Given the description of an element on the screen output the (x, y) to click on. 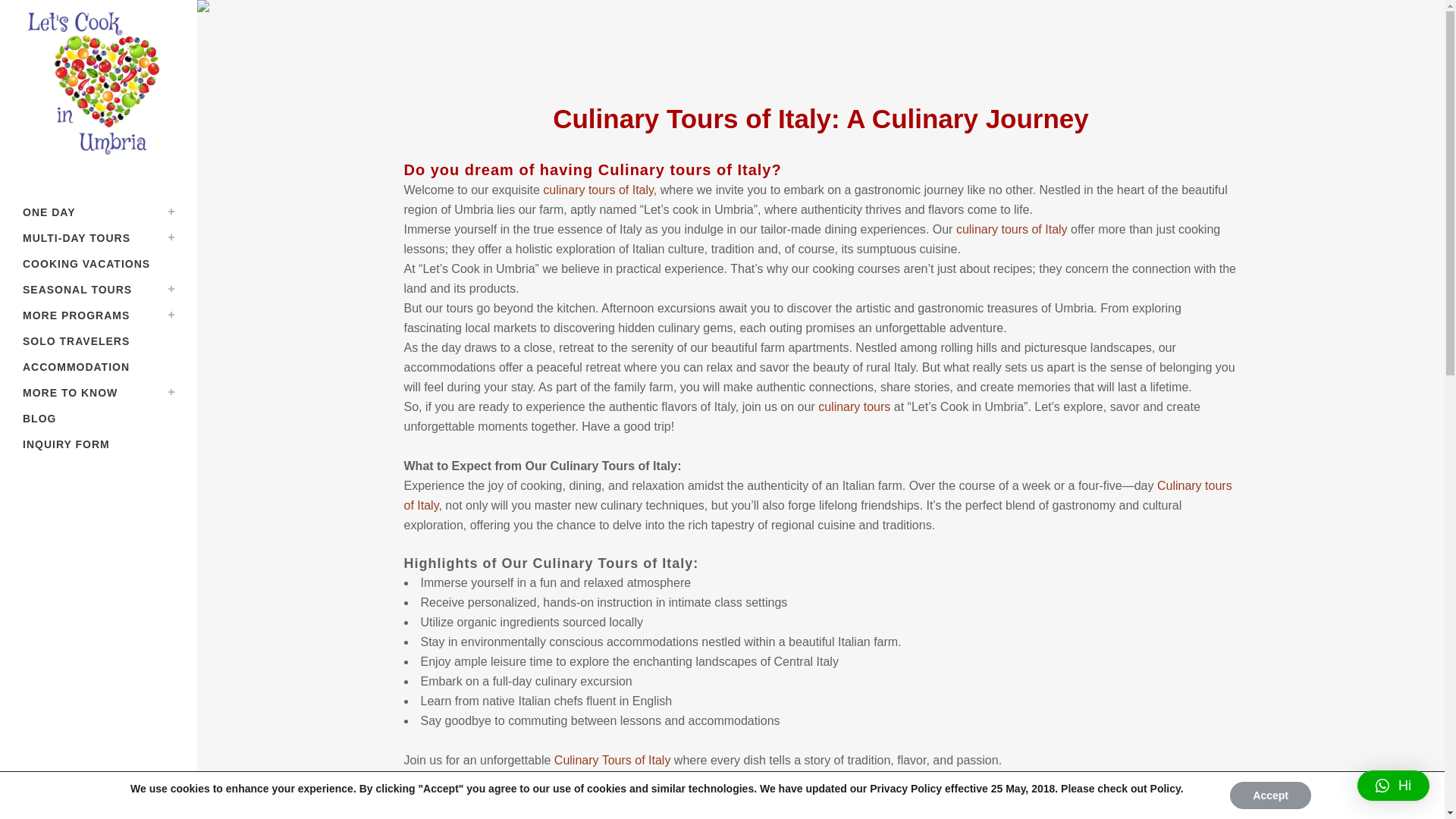
MULTI-DAY TOURS (98, 237)
SEASONAL TOURS (98, 289)
Daily Cooking Class (98, 212)
Italy Food Tours  (98, 237)
COOKING VACATIONS (98, 263)
ONE DAY (98, 212)
